Given the description of an element on the screen output the (x, y) to click on. 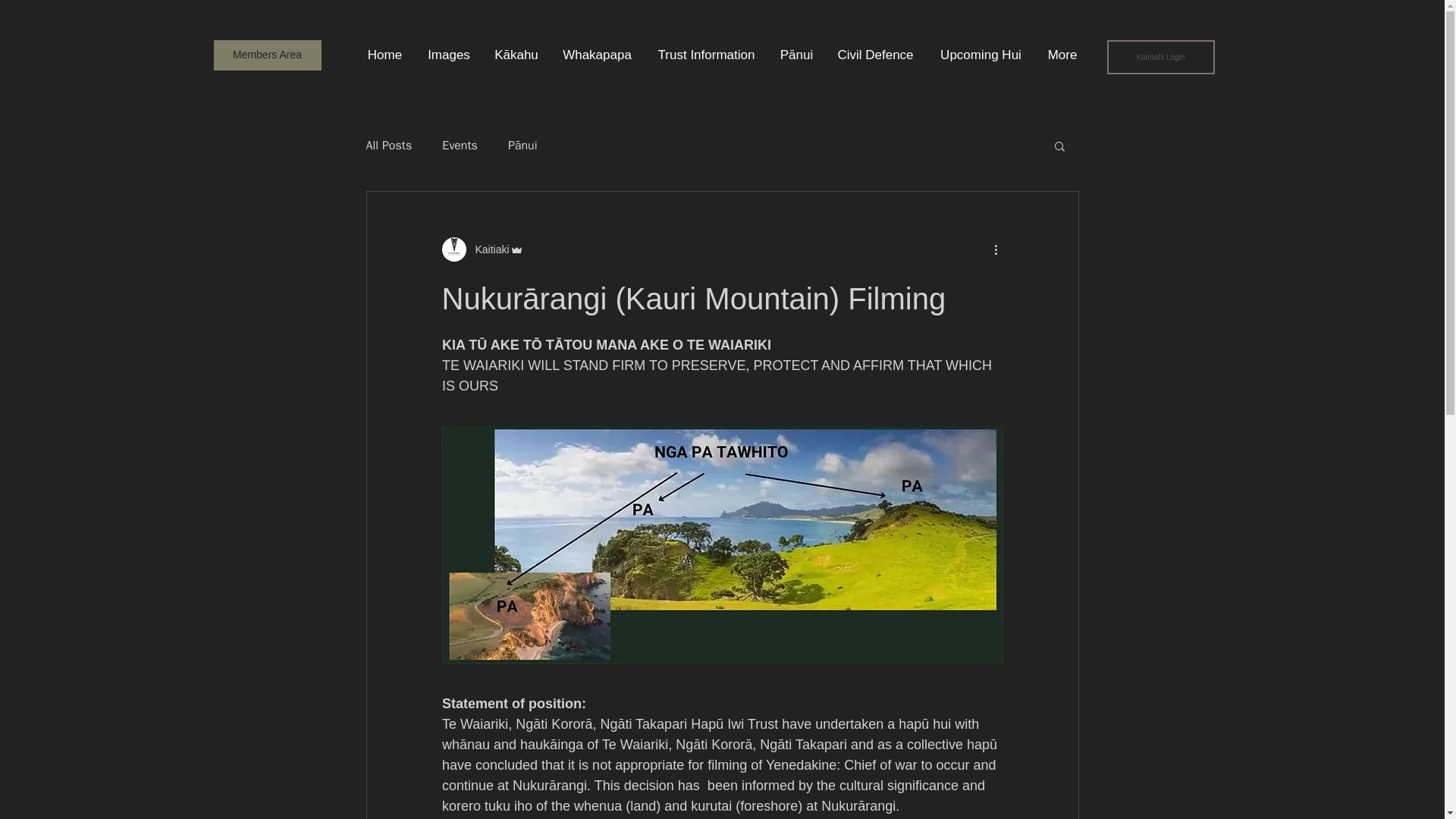
Kaitiaki (486, 248)
Trust Information (706, 55)
Civil Defence (875, 55)
Events (459, 145)
All Posts (388, 145)
Whakapapa (597, 55)
Home (384, 55)
Kaitiaki (481, 249)
Members Area (267, 55)
Kaimahi Login (1160, 57)
Upcoming Hui (980, 55)
Images (448, 55)
